Given the description of an element on the screen output the (x, y) to click on. 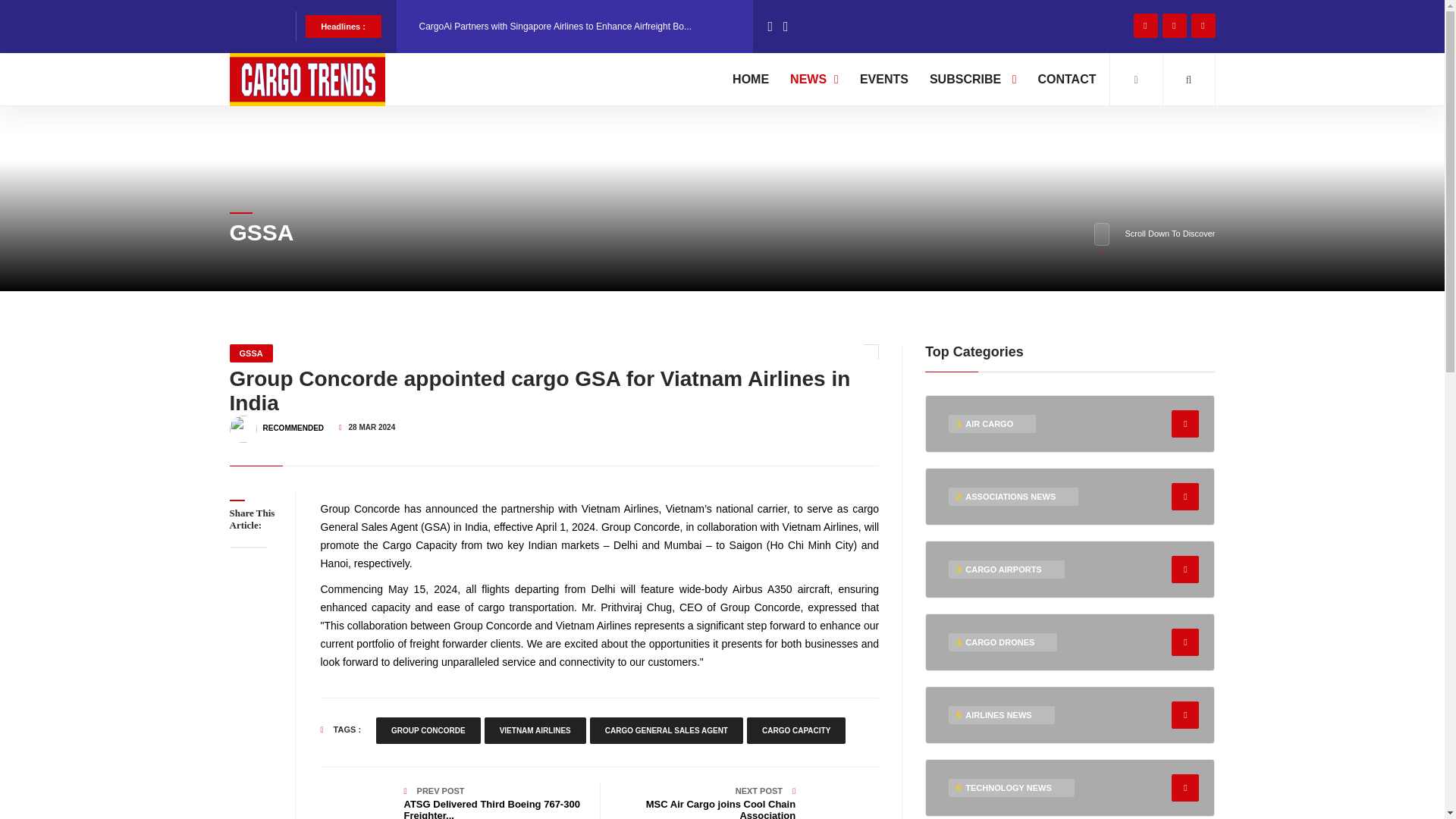
HOME (750, 79)
SUBSCRIBE (973, 79)
NEWS (814, 79)
EVENTS (884, 79)
Scroll Down To Discover (1154, 233)
